Given the description of an element on the screen output the (x, y) to click on. 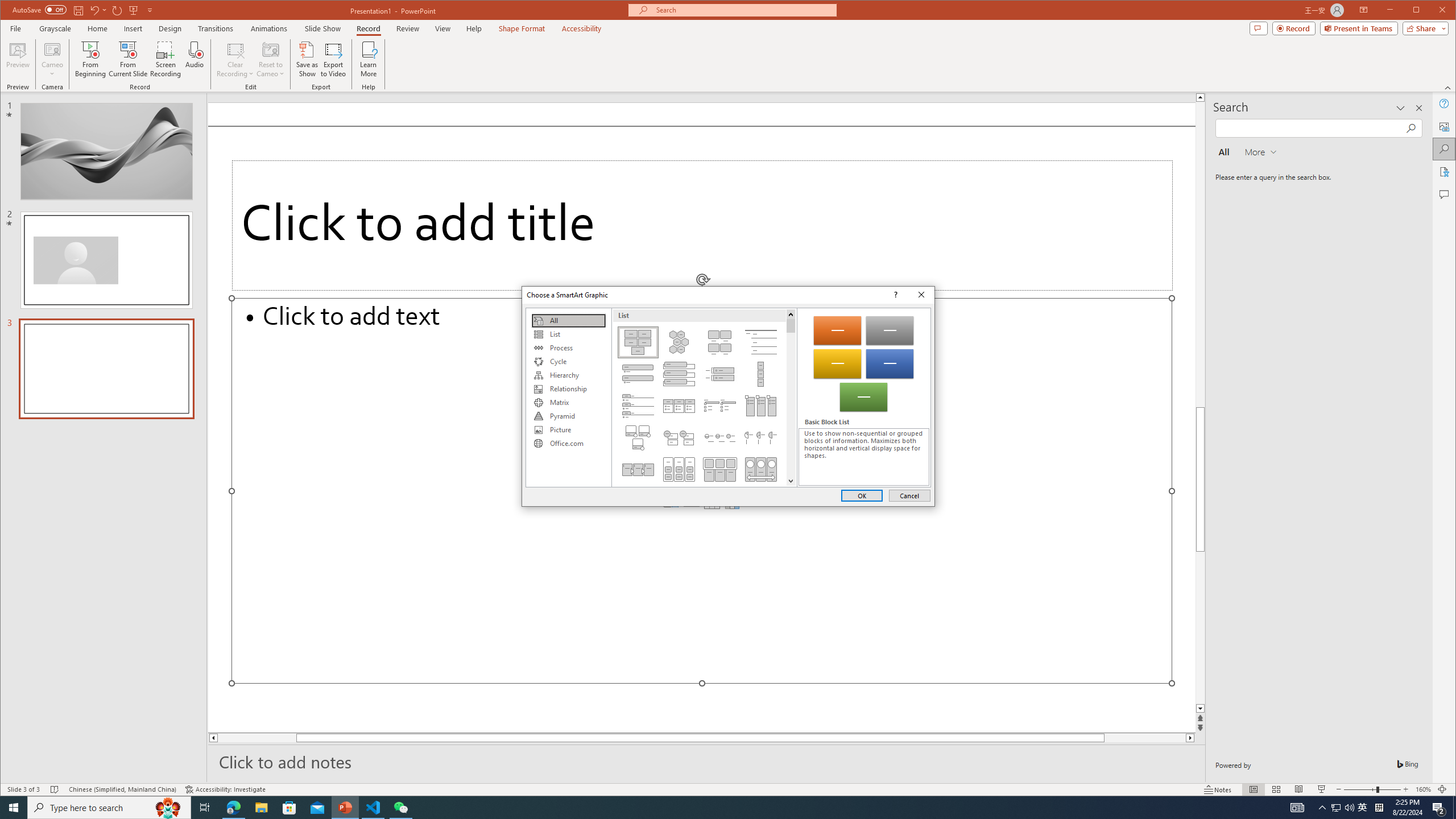
Square Accent List (719, 405)
Vertical Box List (678, 373)
Class: NetUIScrollBar (790, 397)
Lined List (761, 342)
Picture (568, 429)
